Given the description of an element on the screen output the (x, y) to click on. 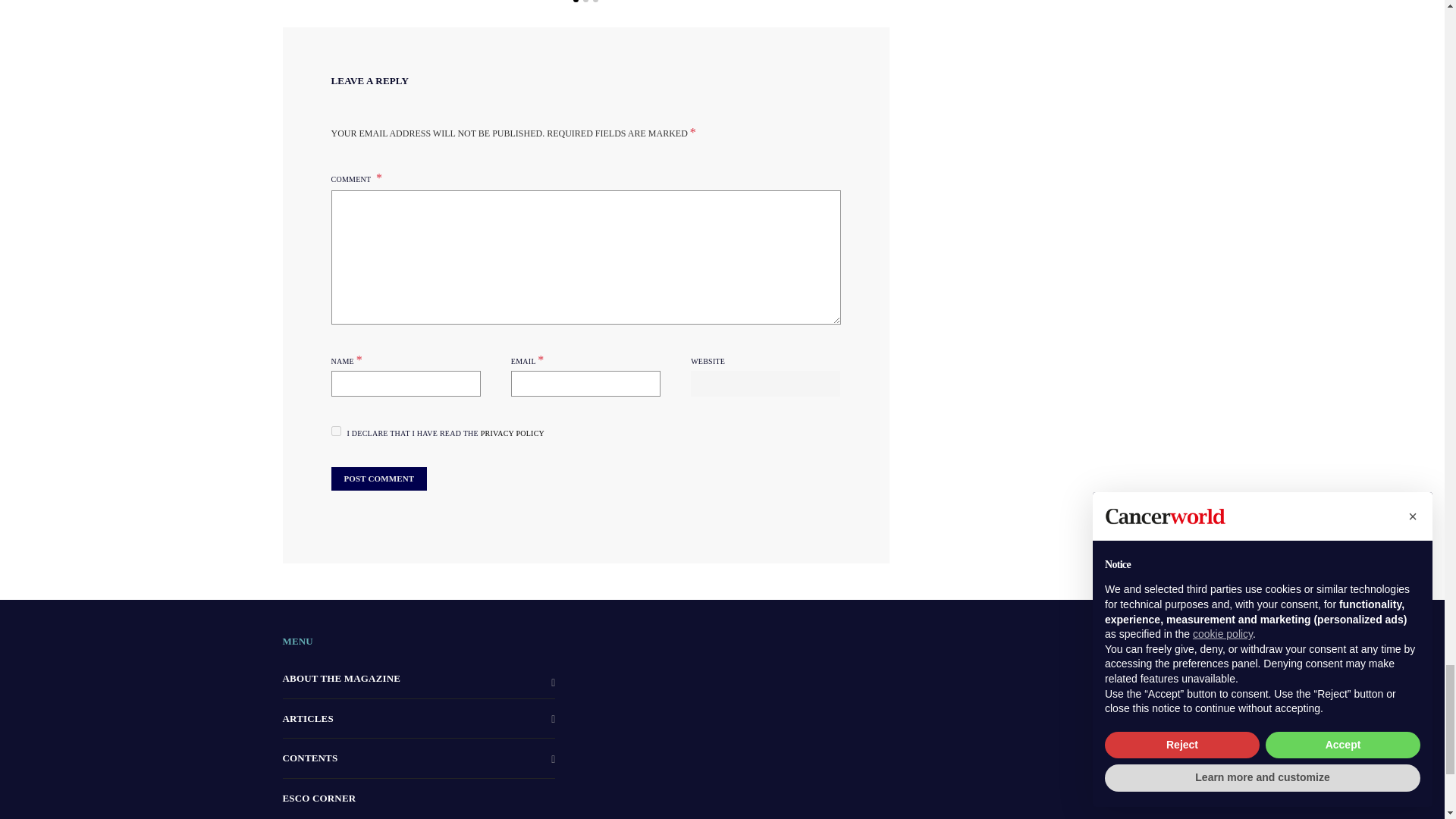
Post Comment (378, 478)
yes (335, 430)
